Given the description of an element on the screen output the (x, y) to click on. 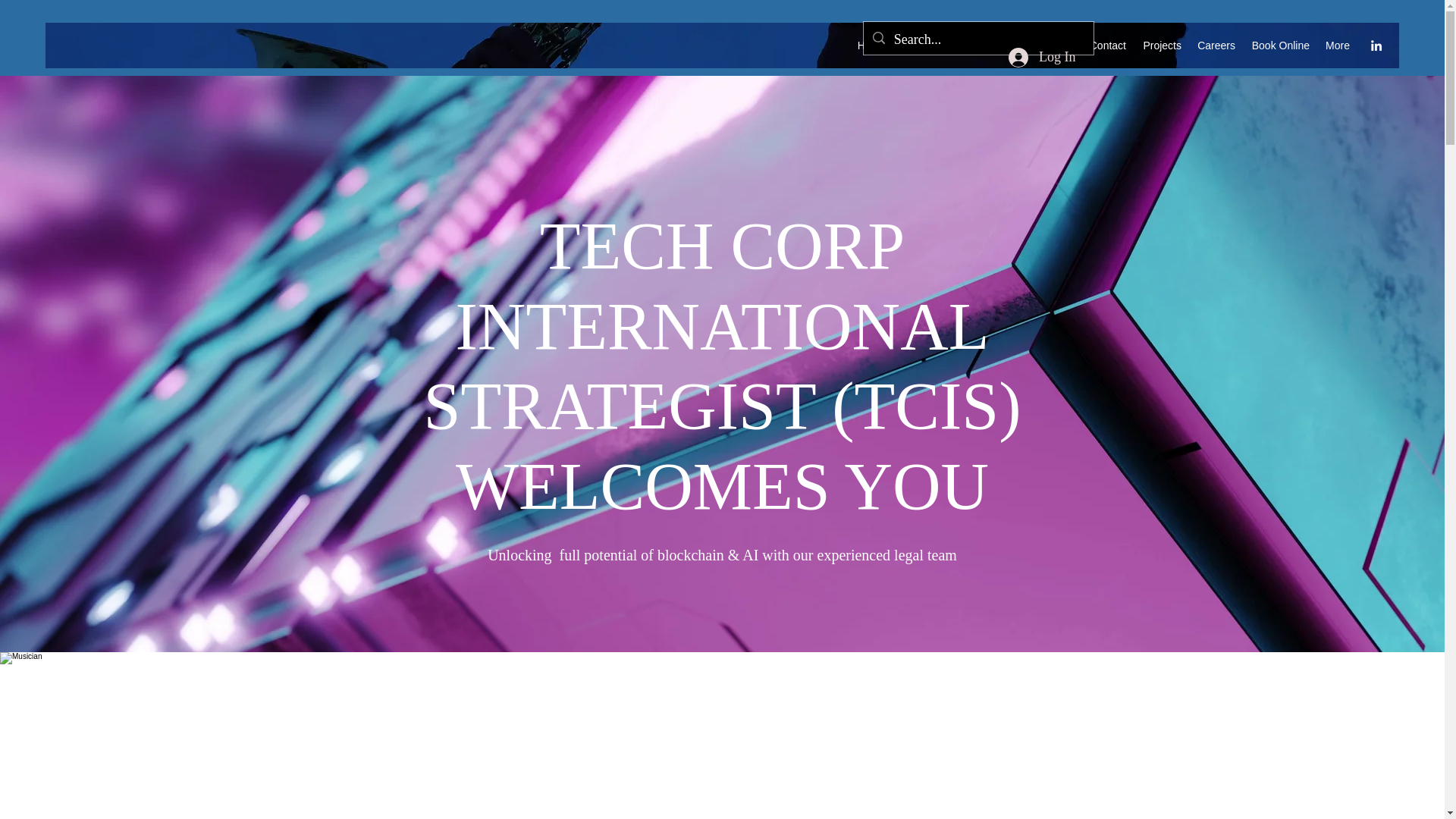
Projects (1161, 45)
Contact (1106, 45)
About (915, 45)
Log In (1041, 57)
FAQ (1004, 45)
Book Online (1280, 45)
Careers (1216, 45)
Clients (962, 45)
Home (870, 45)
Services (1050, 45)
